Given the description of an element on the screen output the (x, y) to click on. 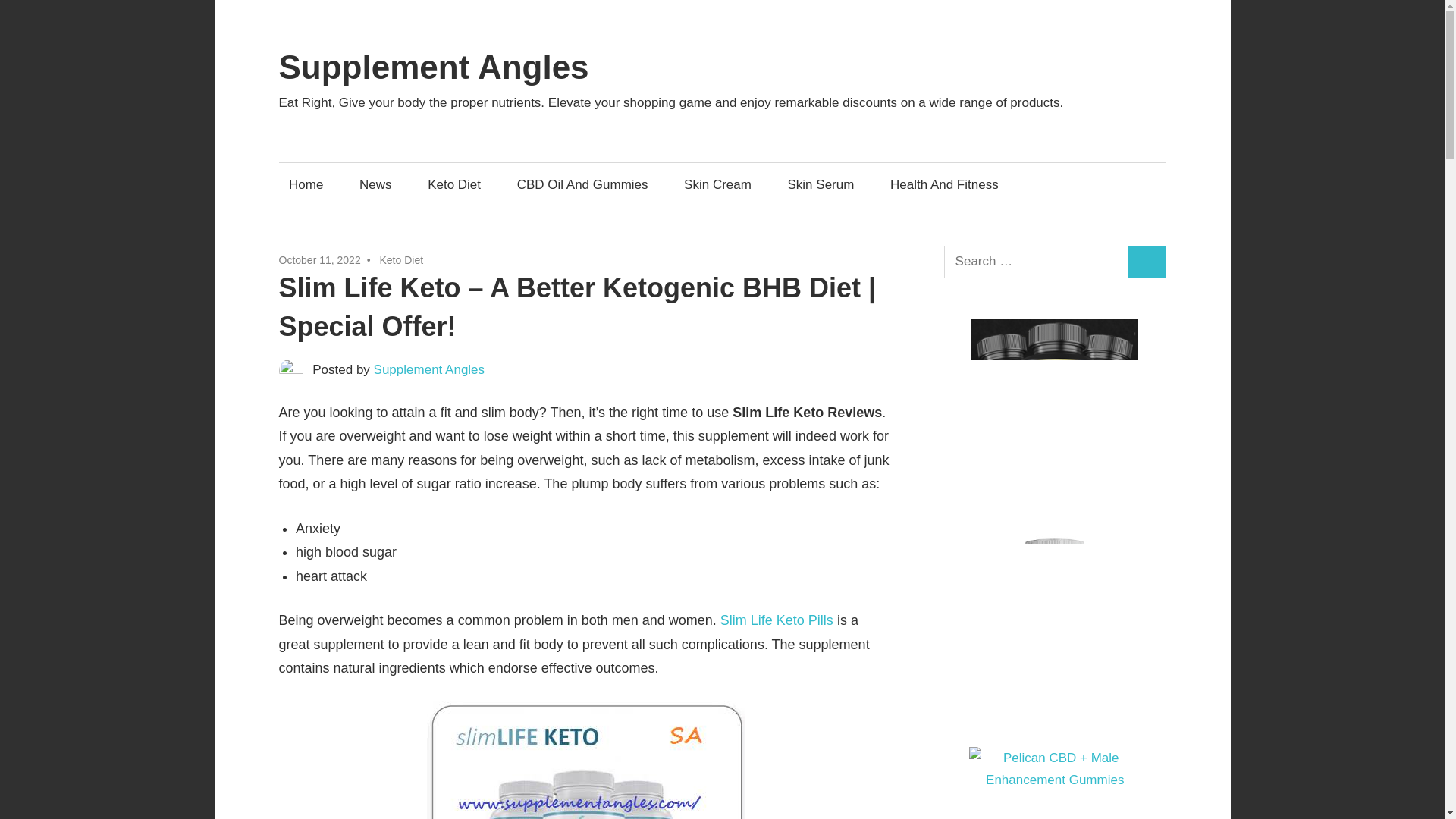
CBD Oil And Gummies (582, 184)
Supplement Angles (434, 66)
View all posts by Supplement Angles (429, 369)
Keto Diet (454, 184)
Skin Cream (717, 184)
Slim Life Keto Pills (776, 620)
Search for: (1035, 261)
Supplement Angles (429, 369)
Slim Life Keto (585, 760)
October 11, 2022 (320, 259)
Home (306, 184)
Health And Fitness (948, 184)
News (375, 184)
9:07 am (320, 259)
Keto Diet (400, 259)
